Given the description of an element on the screen output the (x, y) to click on. 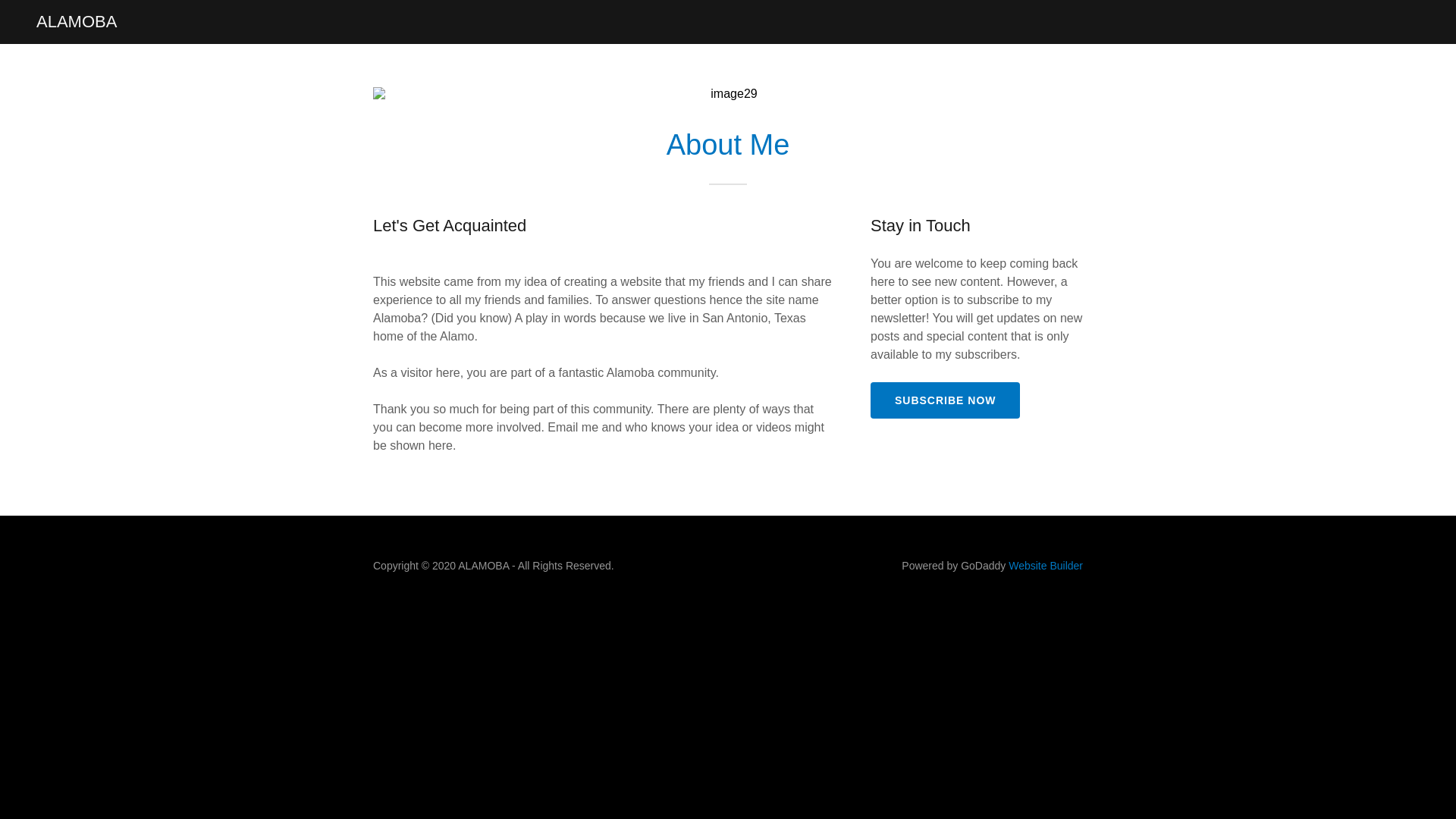
SUBSCRIBE NOW (945, 400)
ALAMOBA (76, 21)
ALAMOBA (76, 21)
Website Builder (1046, 565)
